Given the description of an element on the screen output the (x, y) to click on. 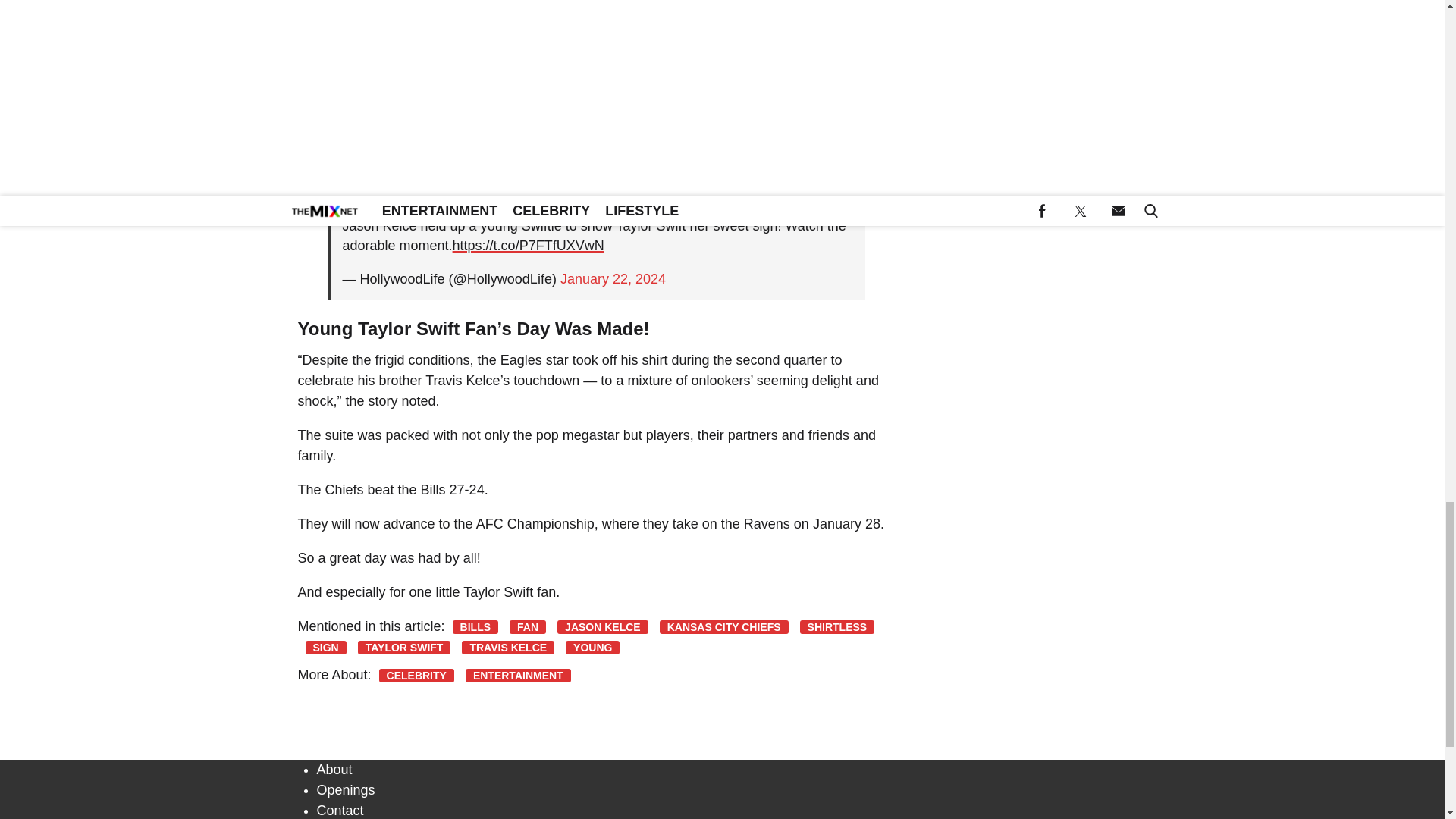
TAYLOR SWIFT (404, 647)
SHIRTLESS (837, 626)
January 22, 2024 (612, 278)
YOUNG (593, 647)
KANSAS CITY CHIEFS (724, 626)
ENTERTAINMENT (517, 675)
TRAVIS KELCE (507, 647)
BILLS (474, 626)
CELEBRITY (416, 675)
FAN (527, 626)
